Given the description of an element on the screen output the (x, y) to click on. 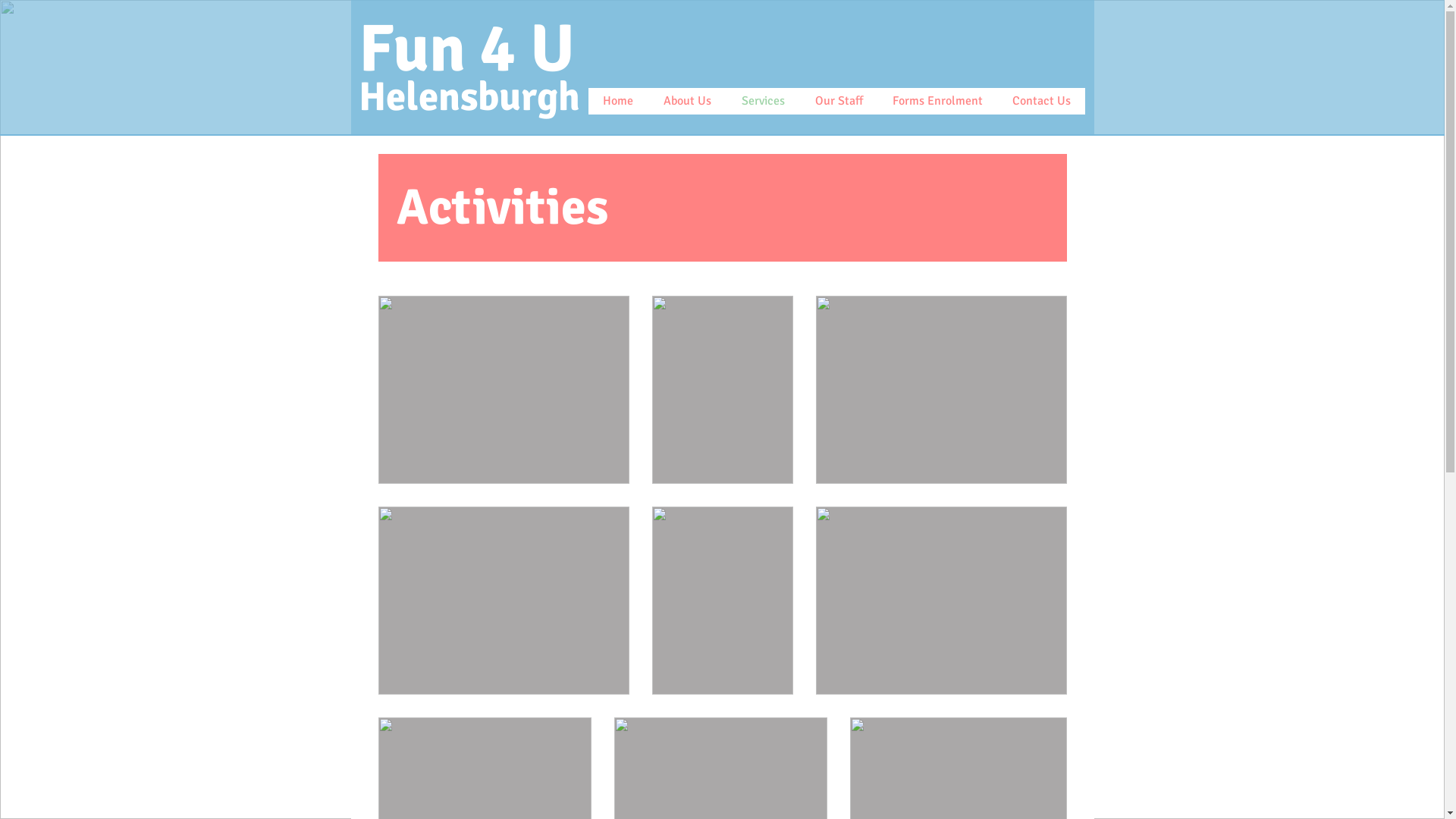
Services Element type: text (763, 100)
Fun 4 U Element type: text (465, 48)
About Us Element type: text (686, 100)
Forms Enrolment Element type: text (936, 100)
Home Element type: text (618, 100)
Our Staff Element type: text (837, 100)
Contact Us Element type: text (1040, 100)
